Given the description of an element on the screen output the (x, y) to click on. 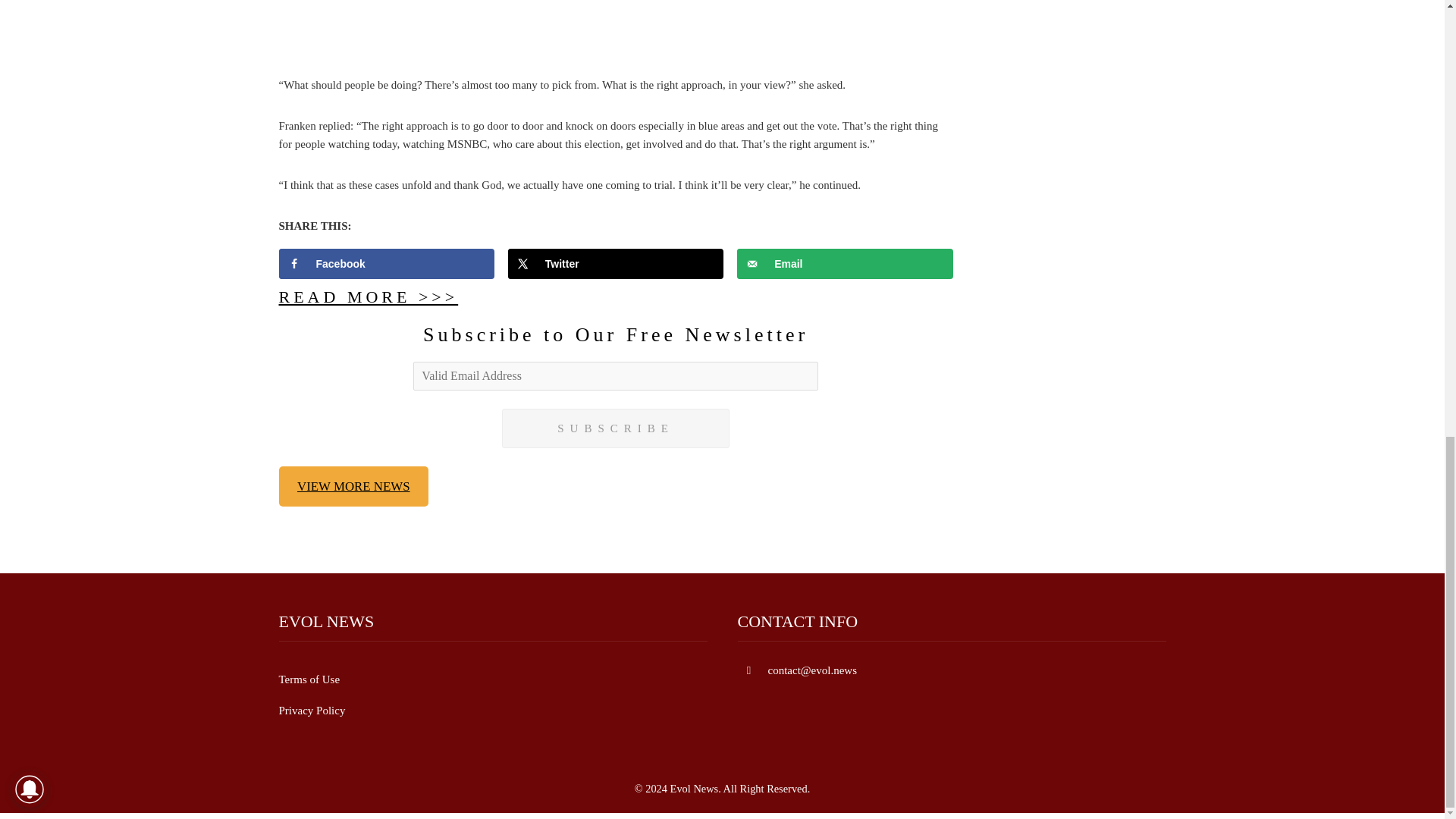
Share on X (615, 263)
Email (844, 263)
Send over email (844, 263)
Twitter (615, 263)
Facebook (387, 263)
Terms of Use (309, 679)
Privacy Policy (312, 710)
Advertisement (616, 34)
SUBSCRIBE (615, 427)
VIEW MORE NEWS (354, 486)
Share on Facebook (387, 263)
